Given the description of an element on the screen output the (x, y) to click on. 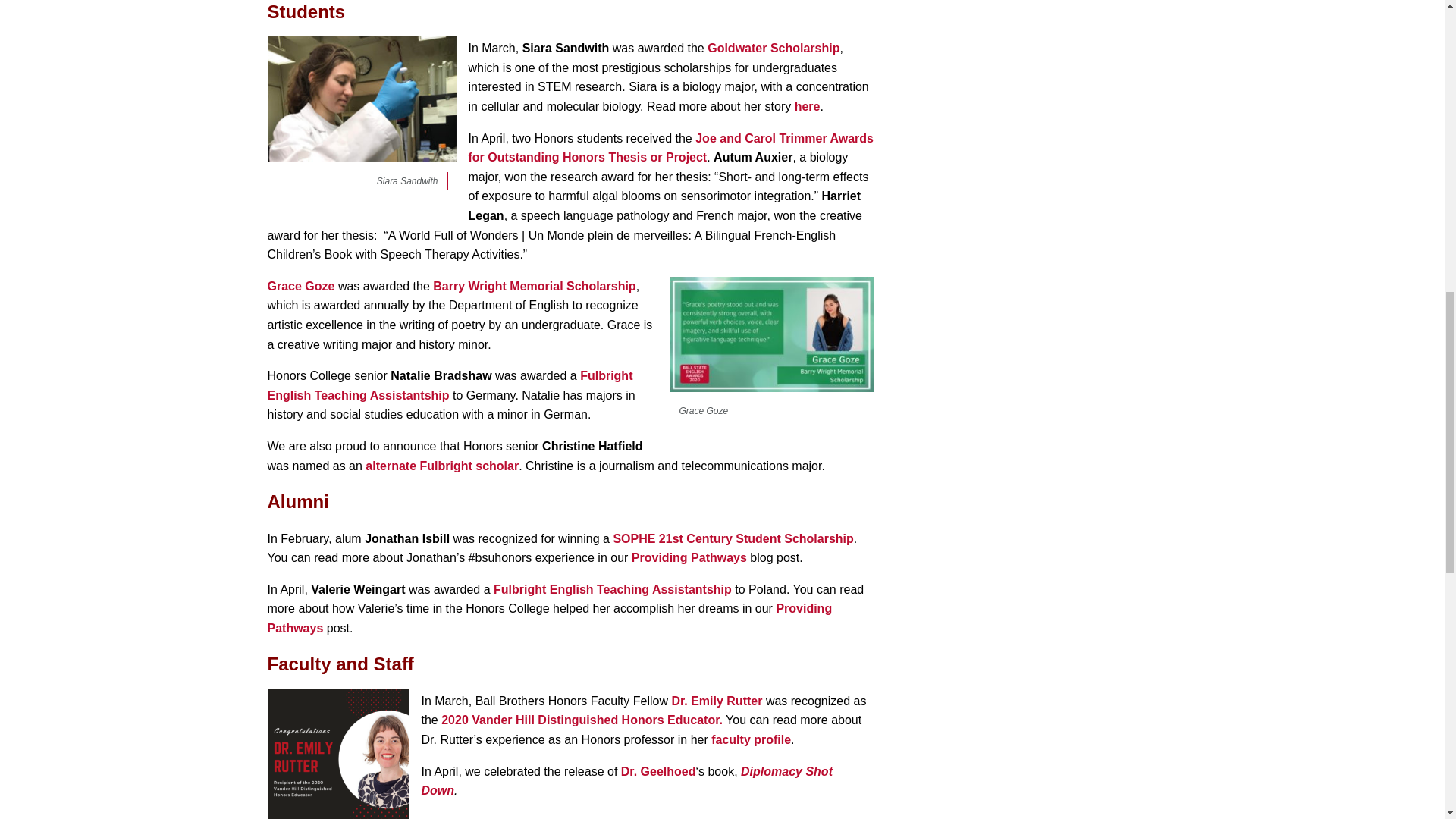
Fulbright English Teaching Assistantship (448, 385)
Providing Pathways (688, 557)
2020 Vander Hill Distinguished Honors Educator. (581, 719)
Goldwater Scholarship (773, 47)
Grace Goze (300, 286)
Barry Wright Memorial Scholarship (533, 286)
Dr. Geelhoed (658, 771)
Providing Pathways (548, 617)
Dr. Emily Rutter (716, 700)
faculty profile (750, 739)
SOPHE 21st Century Student Scholarship (732, 538)
alternate Fulbright scholar (441, 465)
Diplomacy Shot Down (627, 780)
Fulbright English Teaching Assistantship (612, 589)
